Given the description of an element on the screen output the (x, y) to click on. 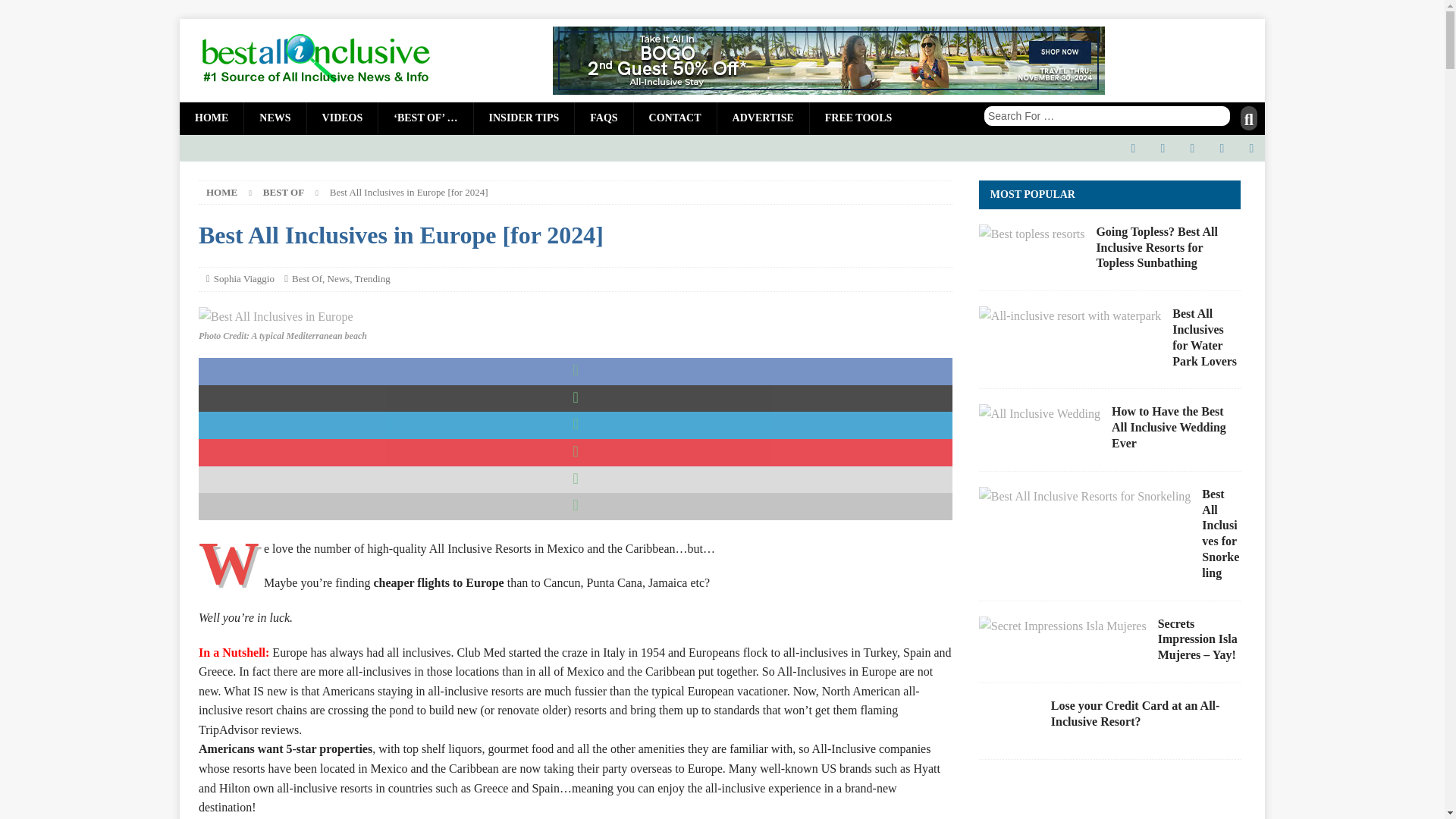
NEWS (274, 118)
Best Of (306, 278)
Best Of (283, 192)
News (338, 278)
FAQS (602, 118)
Mediterranean Beach (275, 316)
Sophia Viaggio (244, 278)
INSIDER TIPS (524, 118)
Trending (371, 278)
Search for: (1107, 116)
